Given the description of an element on the screen output the (x, y) to click on. 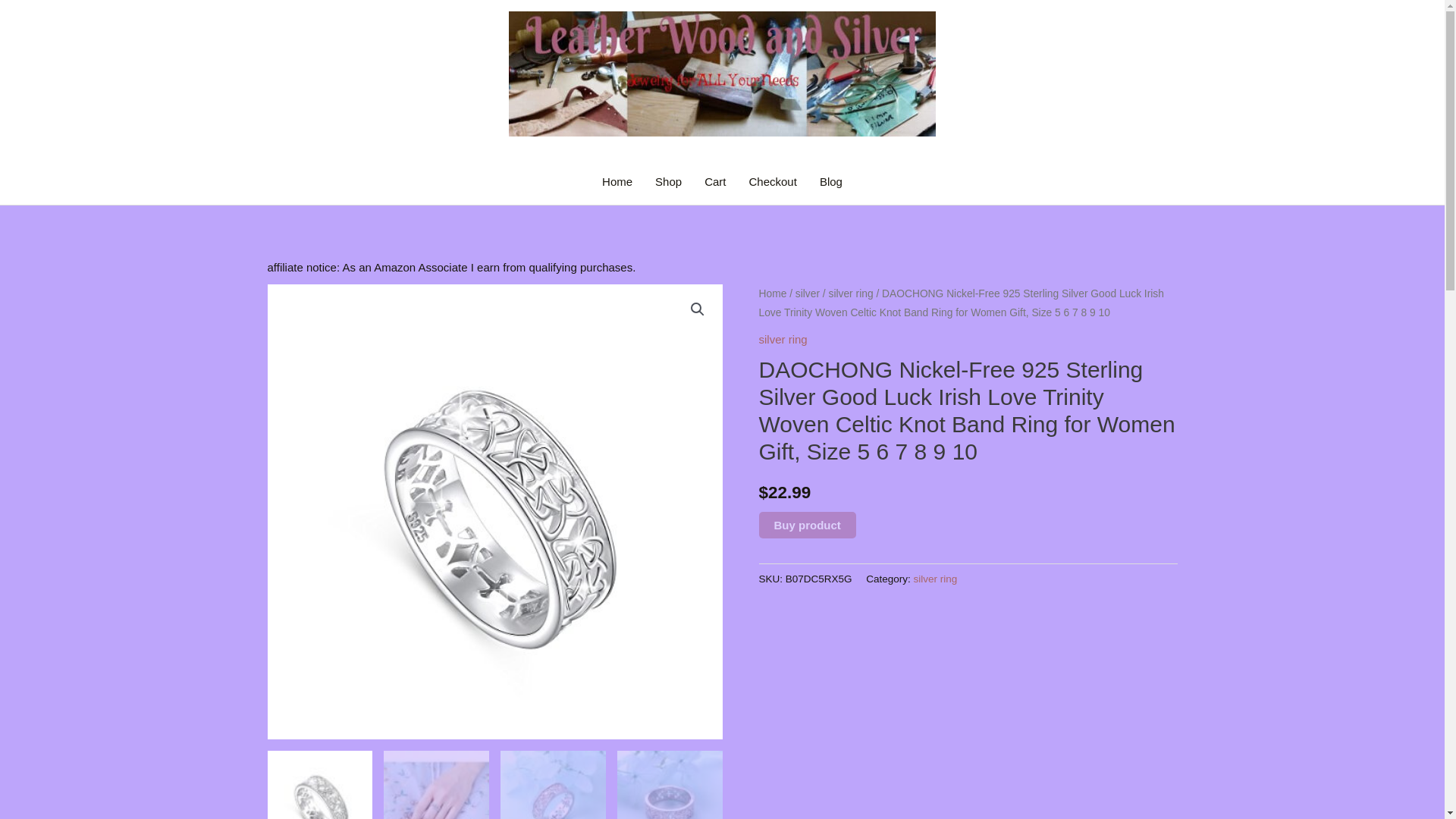
silver (806, 293)
Home (772, 293)
Shop (668, 181)
Buy product (807, 524)
silver ring (782, 338)
silver ring (850, 293)
silver ring (936, 578)
Home (617, 181)
Cart (714, 181)
Blog (830, 181)
Checkout (772, 181)
